Given the description of an element on the screen output the (x, y) to click on. 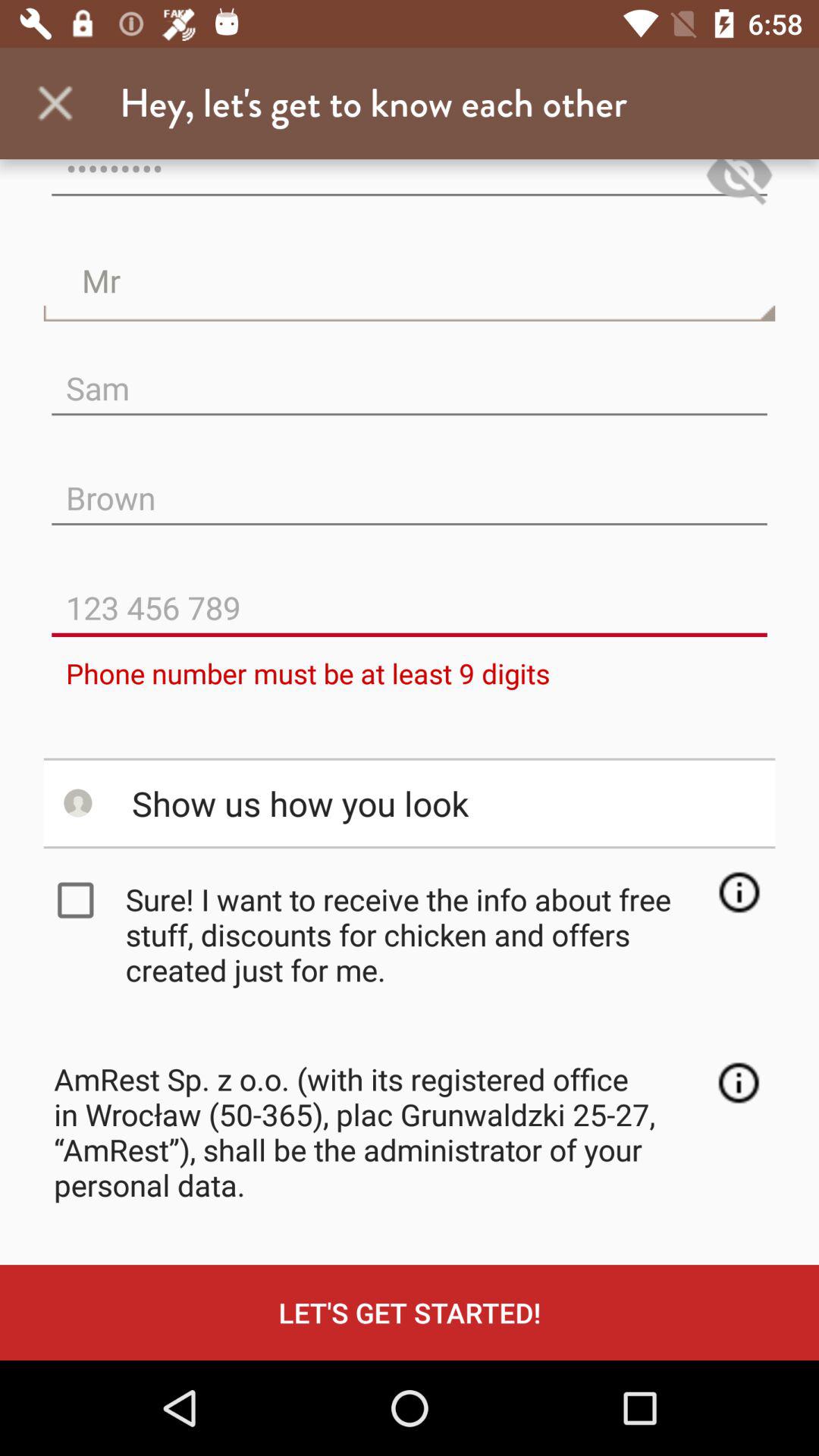
click icon at the top left corner (55, 103)
